Given the description of an element on the screen output the (x, y) to click on. 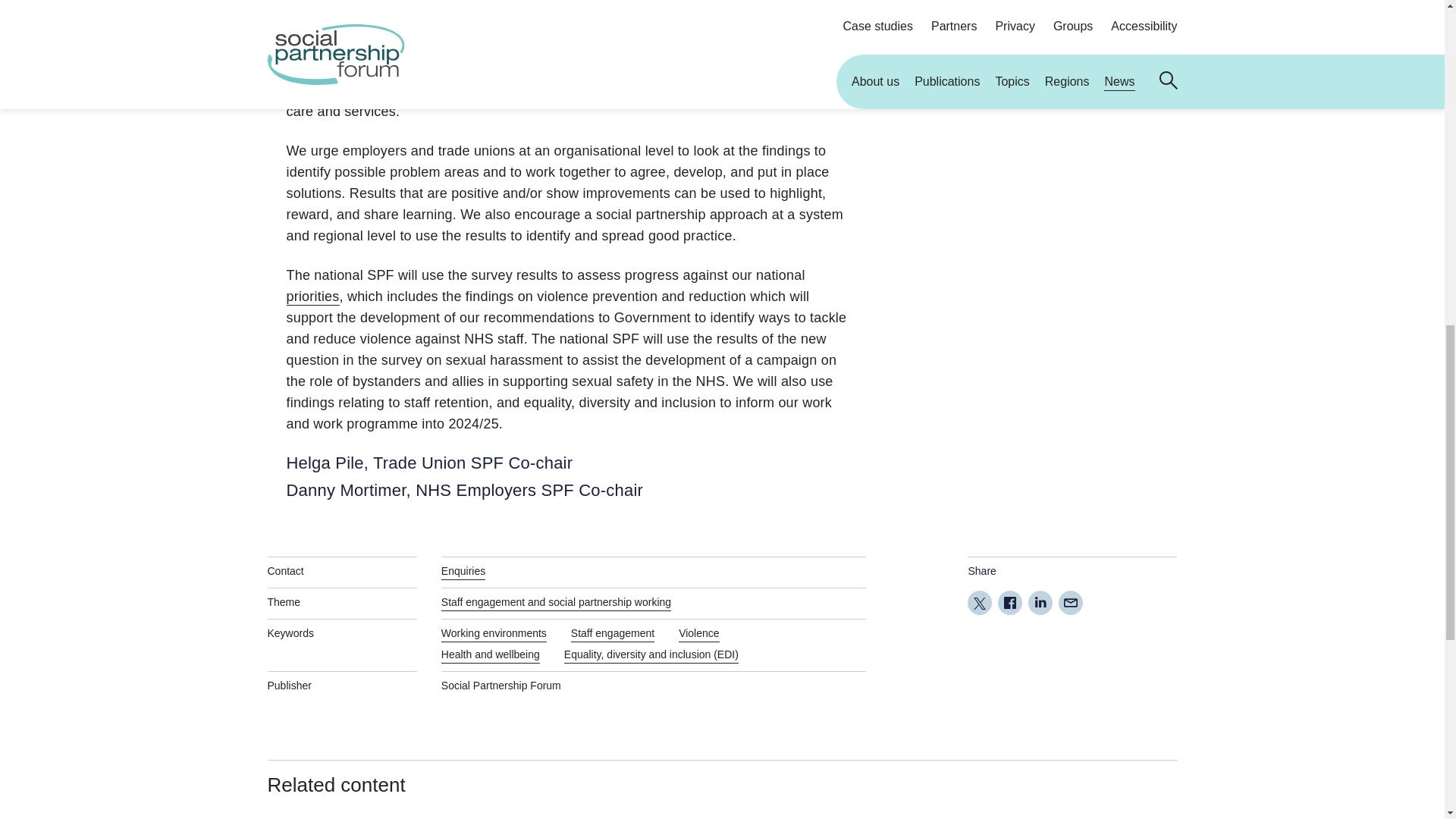
Share on Twitter (979, 601)
Email icon (1070, 602)
Violence (698, 631)
LinkedIn logo (1040, 601)
Share on Linkedin (1039, 601)
Twitter logo (979, 603)
Enquiries (462, 570)
Facebook logo (1010, 602)
Staff engagement and social partnership working (556, 601)
